Given the description of an element on the screen output the (x, y) to click on. 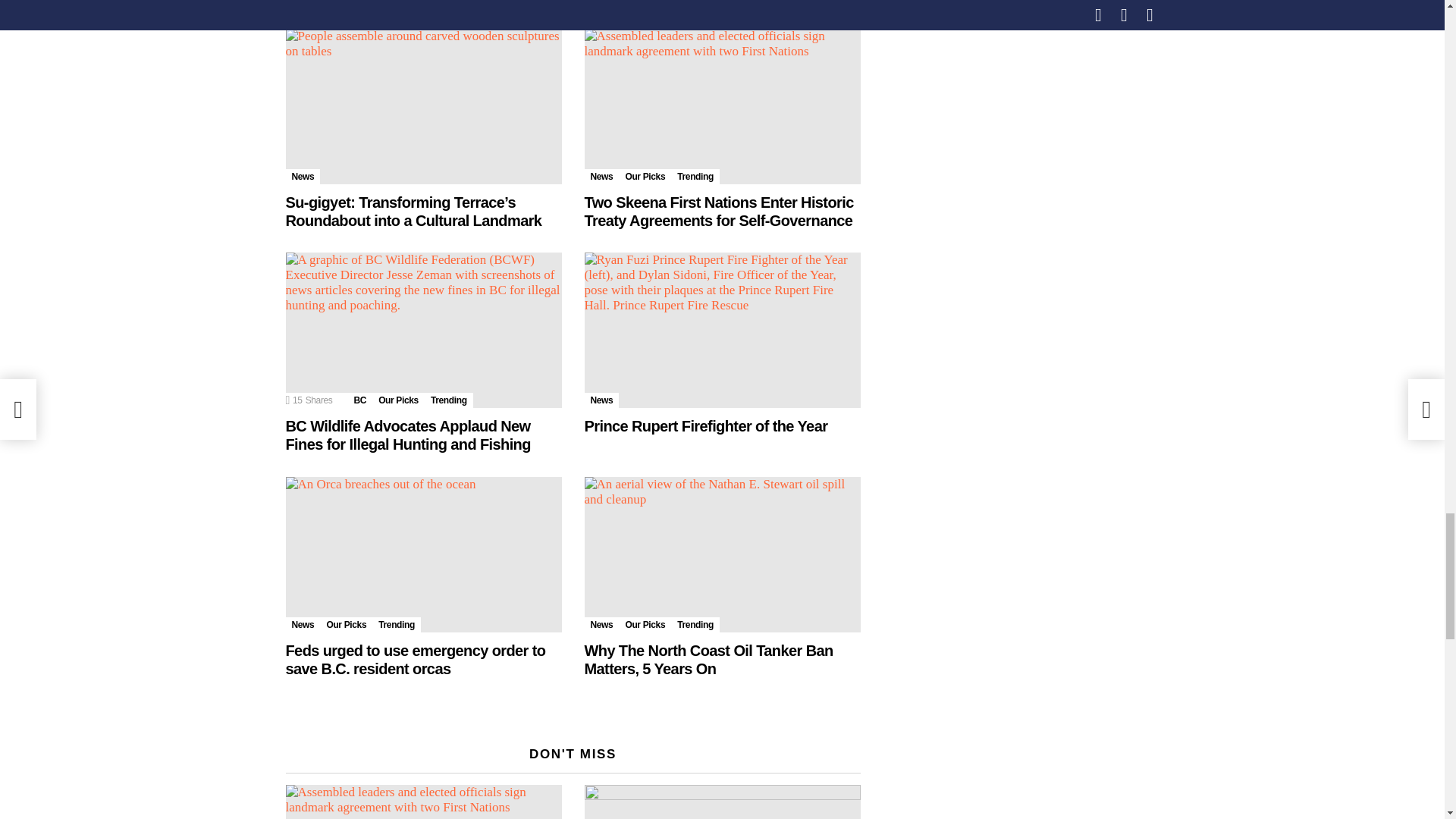
Why The North Coast Oil Tanker Ban Matters, 5 Years On (721, 554)
Prince Rupert Firefighter of the Year (721, 329)
